Given the description of an element on the screen output the (x, y) to click on. 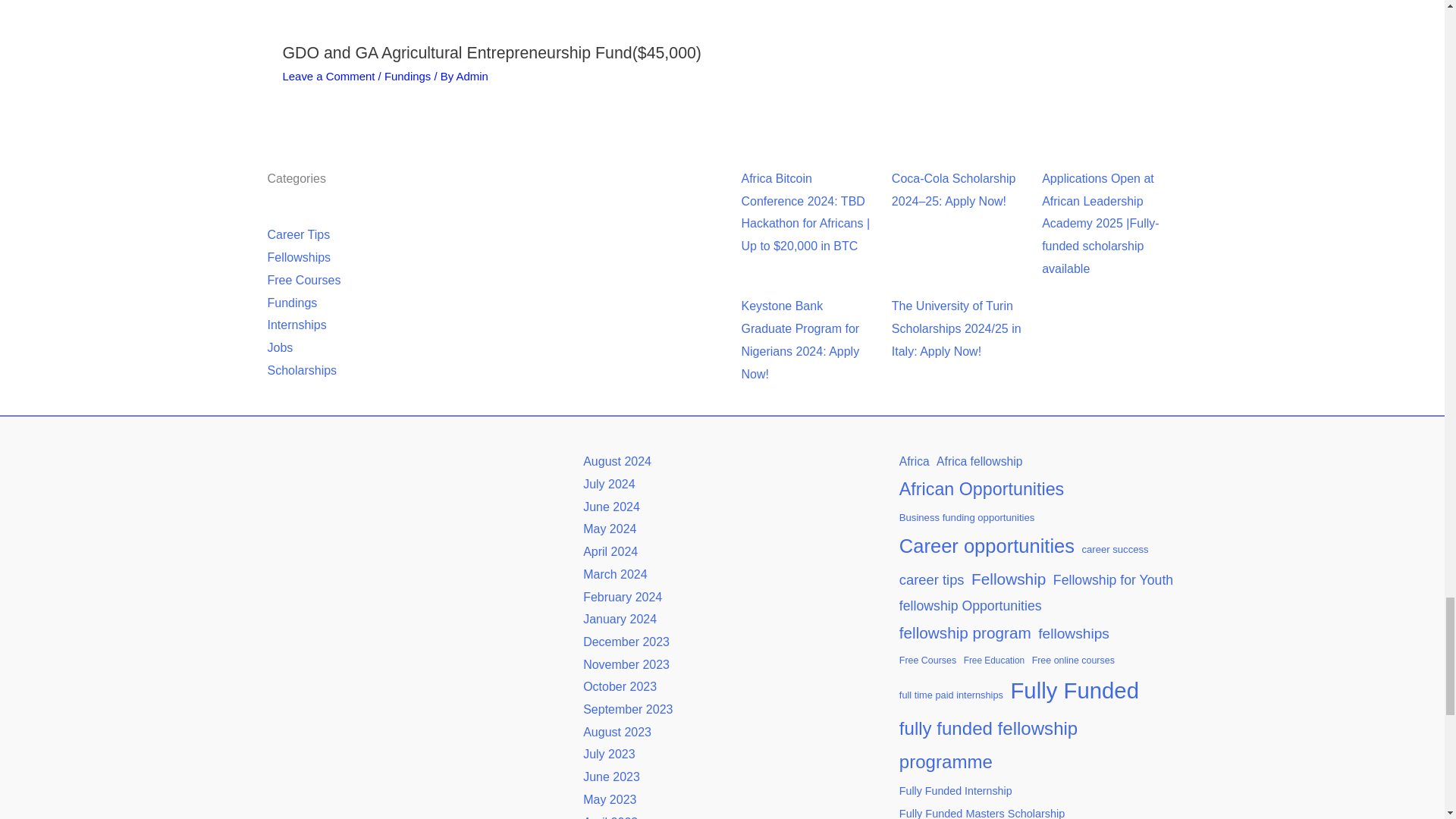
View all posts by Admin (471, 75)
